Given the description of an element on the screen output the (x, y) to click on. 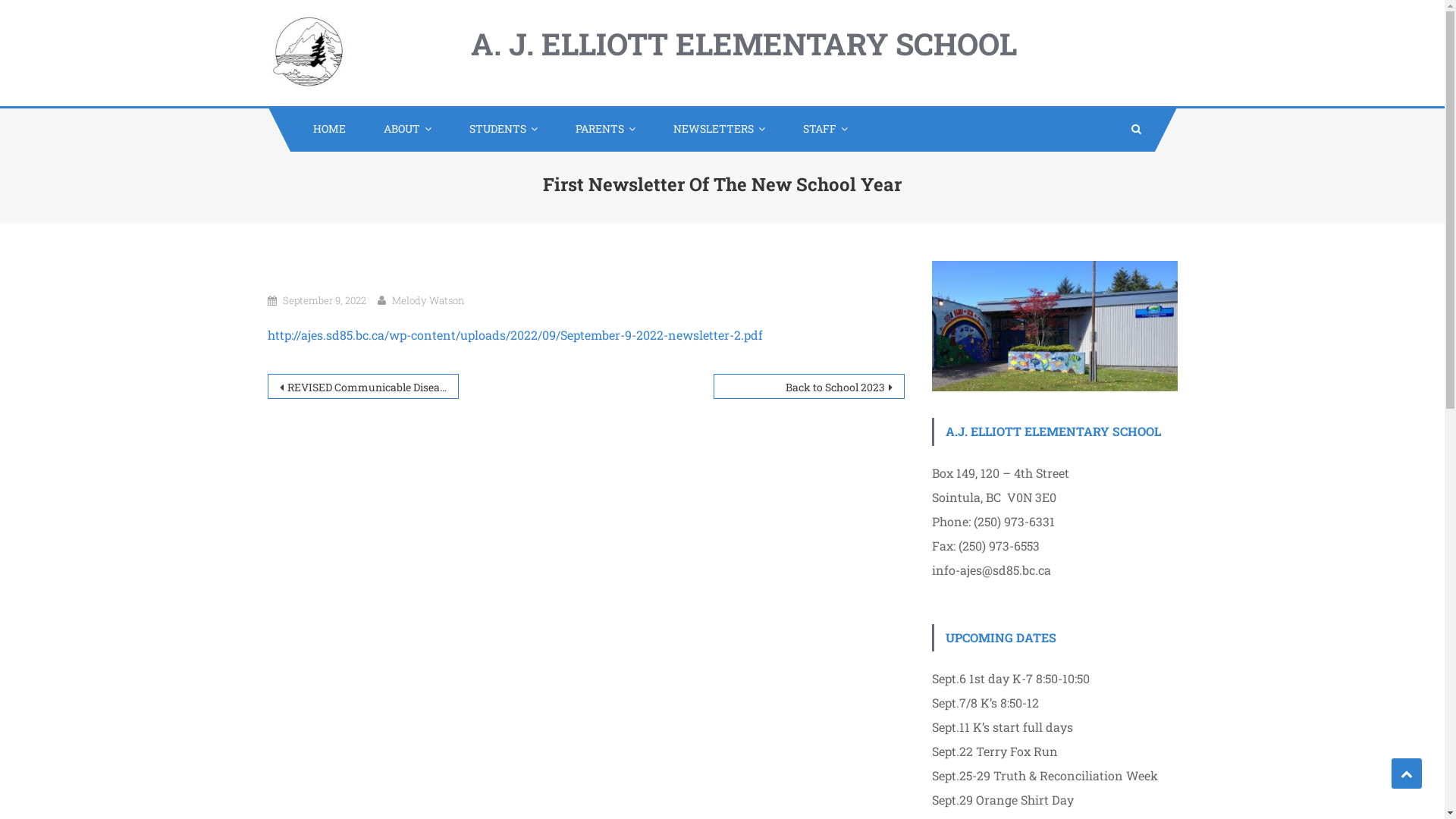
NEWSLETTERS Element type: text (715, 128)
REVISED Communicable Disease Prevention Plan Element type: text (362, 385)
STAFF Element type: text (820, 128)
PARENTS Element type: text (600, 128)
Melody Watson Element type: text (427, 300)
STUDENTS Element type: text (498, 128)
ABOUT Element type: text (403, 128)
HOME Element type: text (324, 128)
September 9, 2022 Element type: text (323, 300)
Back to School 2023 Element type: text (807, 385)
